Given the description of an element on the screen output the (x, y) to click on. 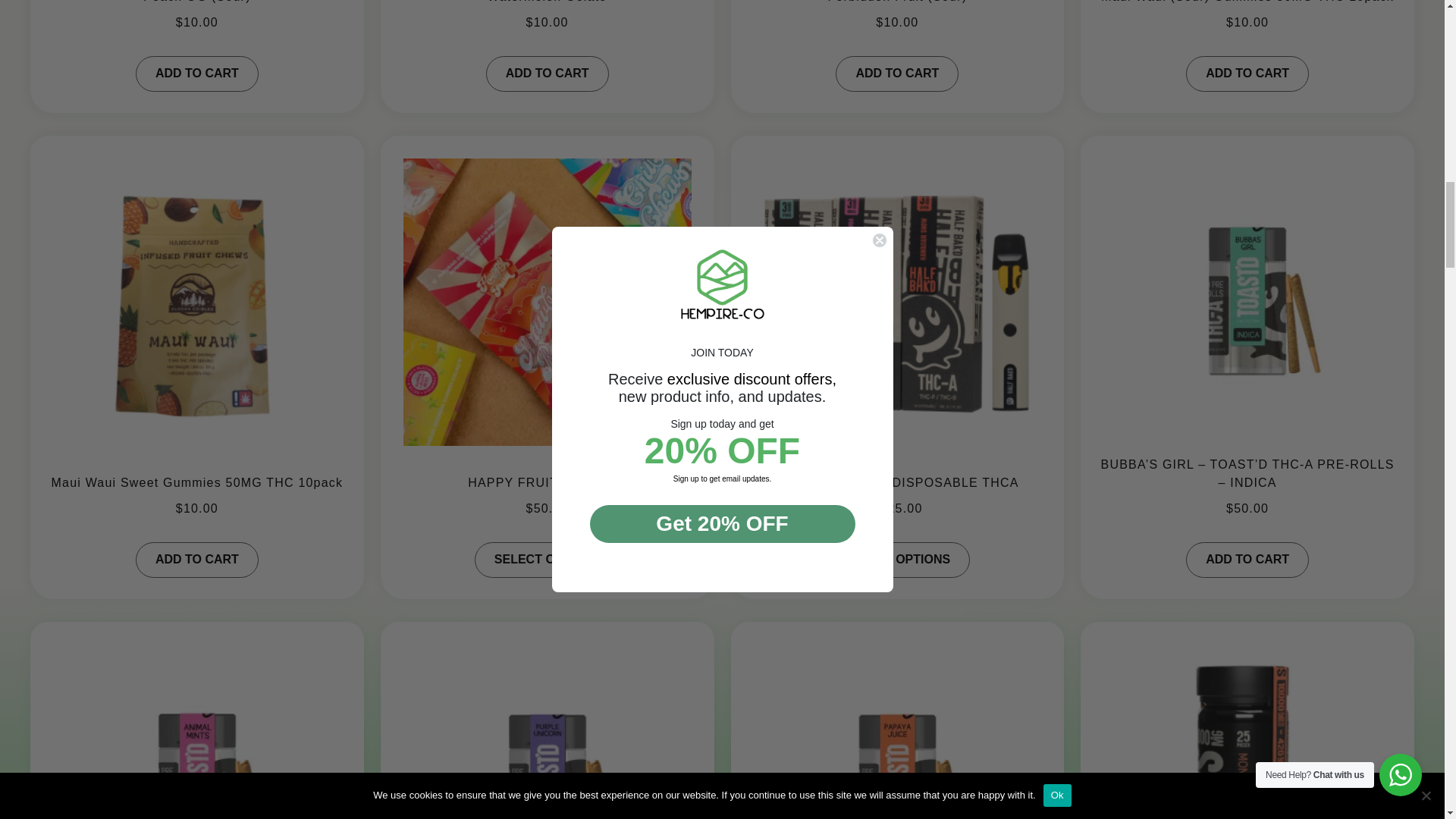
Home 2023 16 (547, 720)
Home 2023 10 (547, 290)
Home 2023 17 (897, 720)
Home 2023 9 (197, 290)
Home 2023 12 (897, 290)
Home 2023 14 (1246, 290)
Home 2023 15 (197, 720)
